Given the description of an element on the screen output the (x, y) to click on. 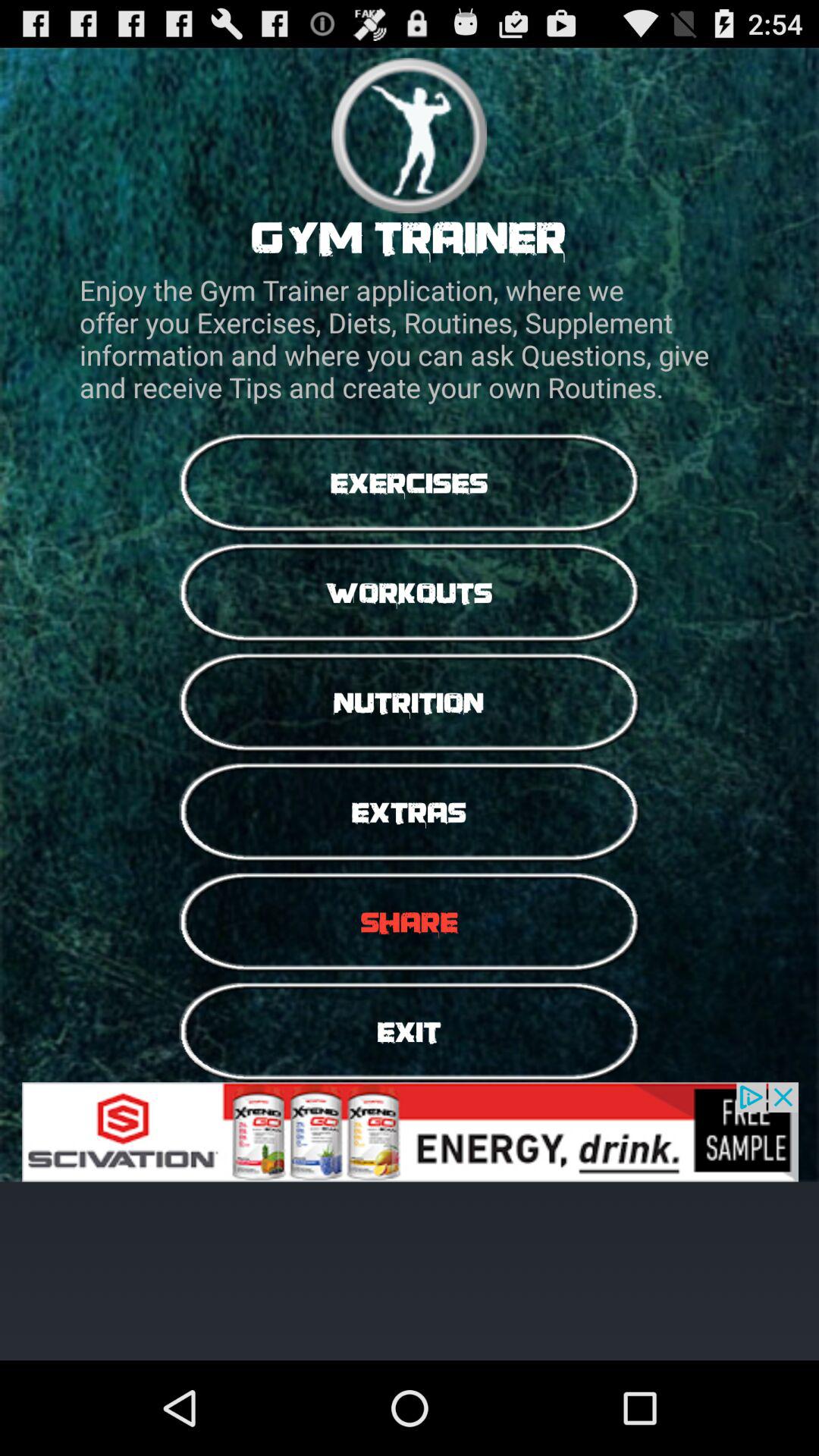
advertisement (409, 1131)
